Given the description of an element on the screen output the (x, y) to click on. 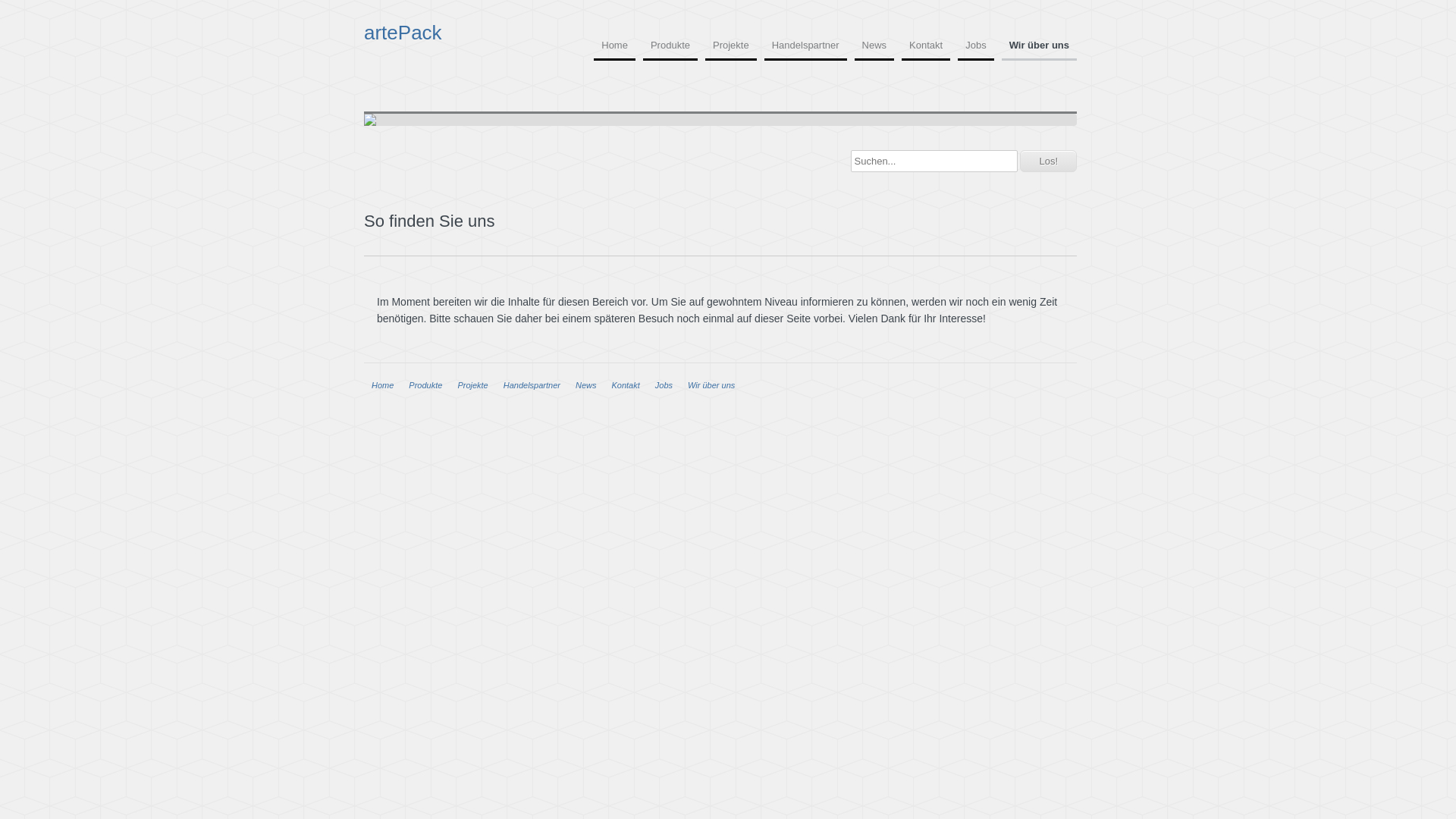
Kontakt Element type: text (925, 49)
Projekte Element type: text (730, 49)
Jobs Element type: text (975, 49)
Produkte Element type: text (425, 384)
Home Element type: text (614, 49)
News Element type: text (585, 384)
Jobs Element type: text (663, 384)
Produkte Element type: text (670, 49)
artePack Element type: text (447, 31)
Handelspartner Element type: text (531, 384)
News Element type: text (874, 49)
Home Element type: text (382, 384)
Projekte Element type: text (472, 384)
Kontakt Element type: text (625, 384)
Handelspartner Element type: text (805, 49)
Los! Element type: text (1047, 161)
